Given the description of an element on the screen output the (x, y) to click on. 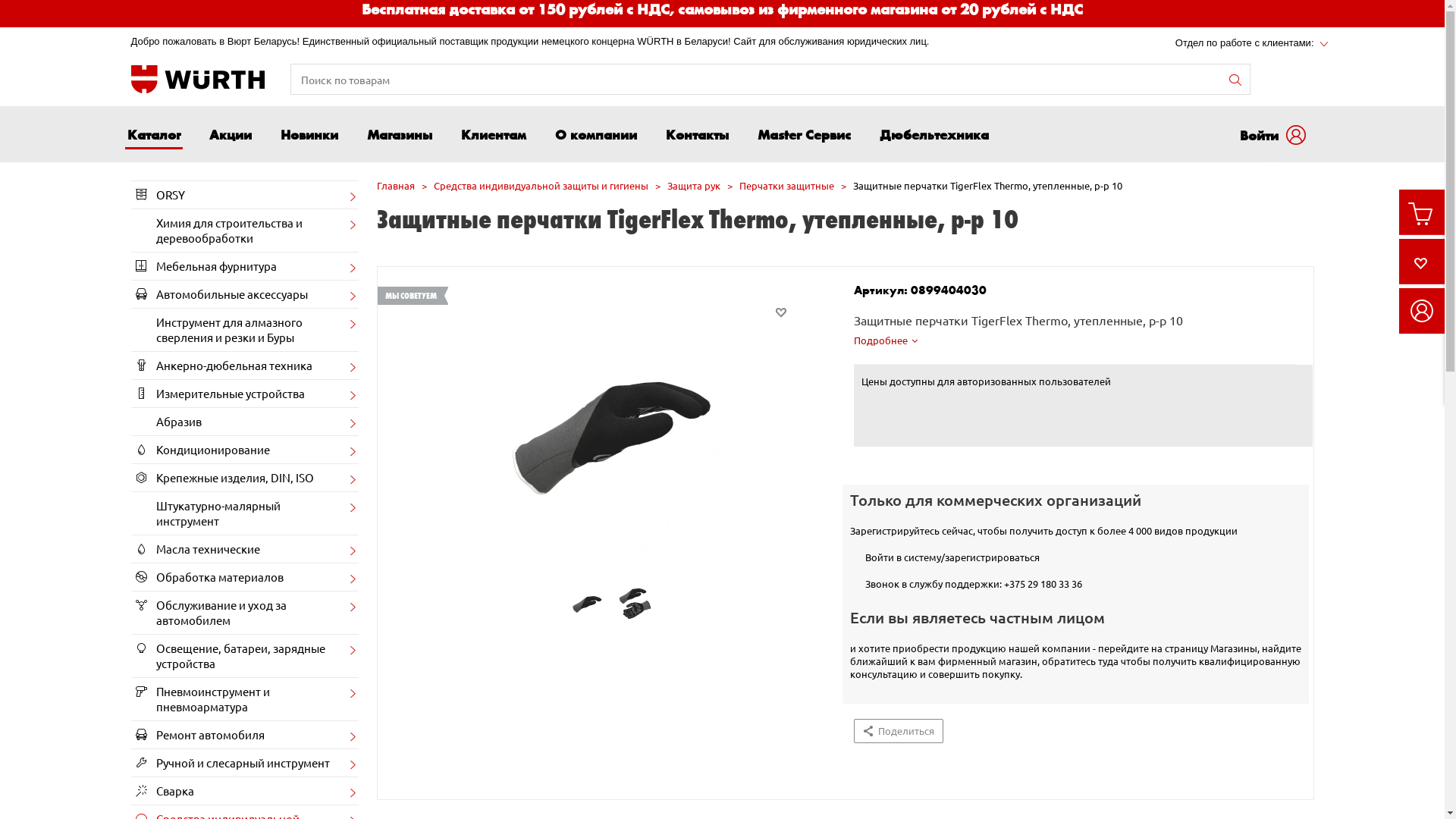
+375 29 180 33 36 Element type: text (1043, 583)
ORSY Element type: text (243, 194)
WURTH.BY Element type: hover (196, 79)
